Given the description of an element on the screen output the (x, y) to click on. 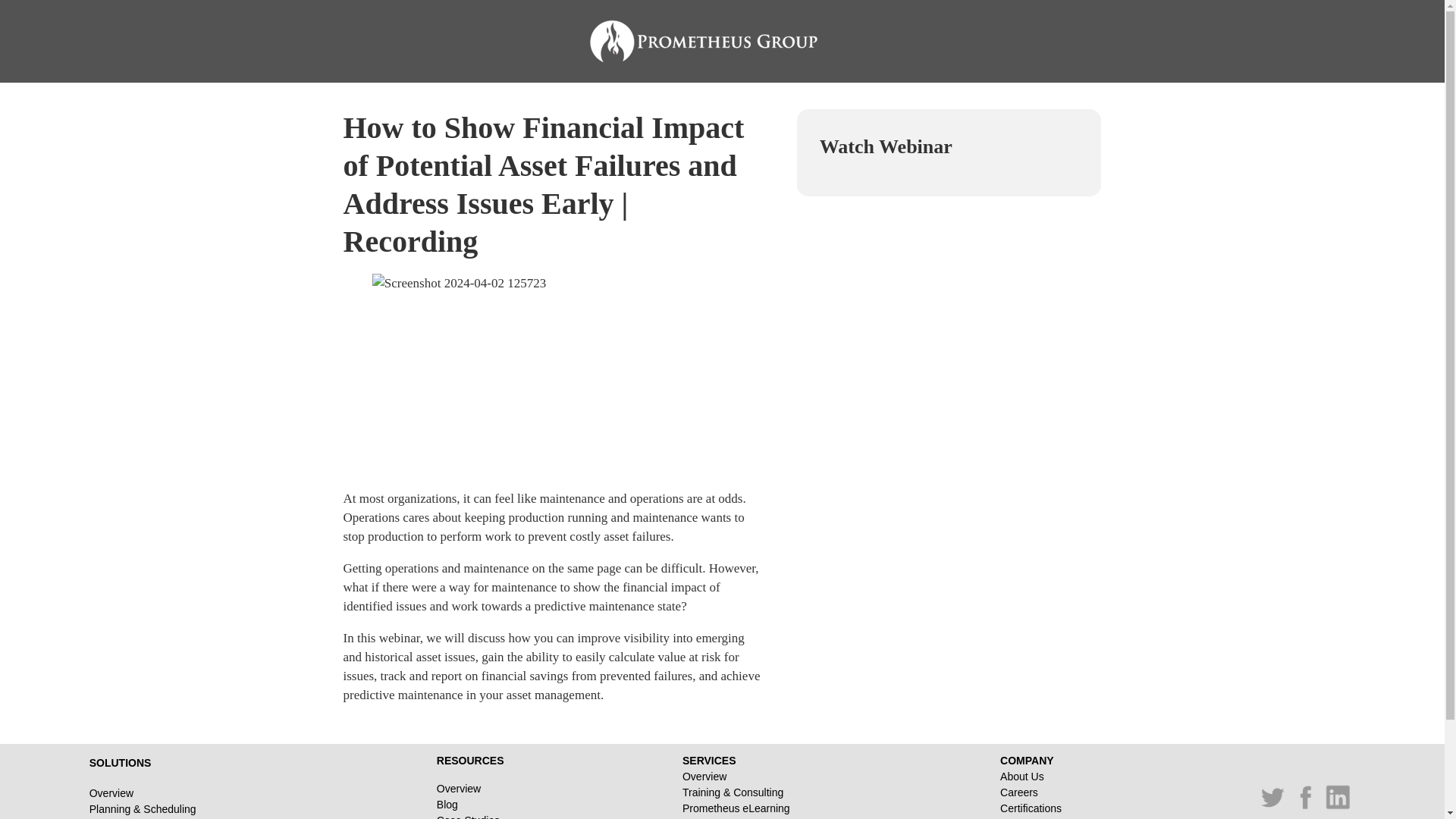
About Us (1038, 776)
Overview (469, 788)
Careers (1038, 792)
Prometheus eLearning (752, 807)
Case Studies (469, 816)
Overview (173, 792)
Certifications (1038, 807)
Overview (752, 776)
Blog (469, 804)
